Given the description of an element on the screen output the (x, y) to click on. 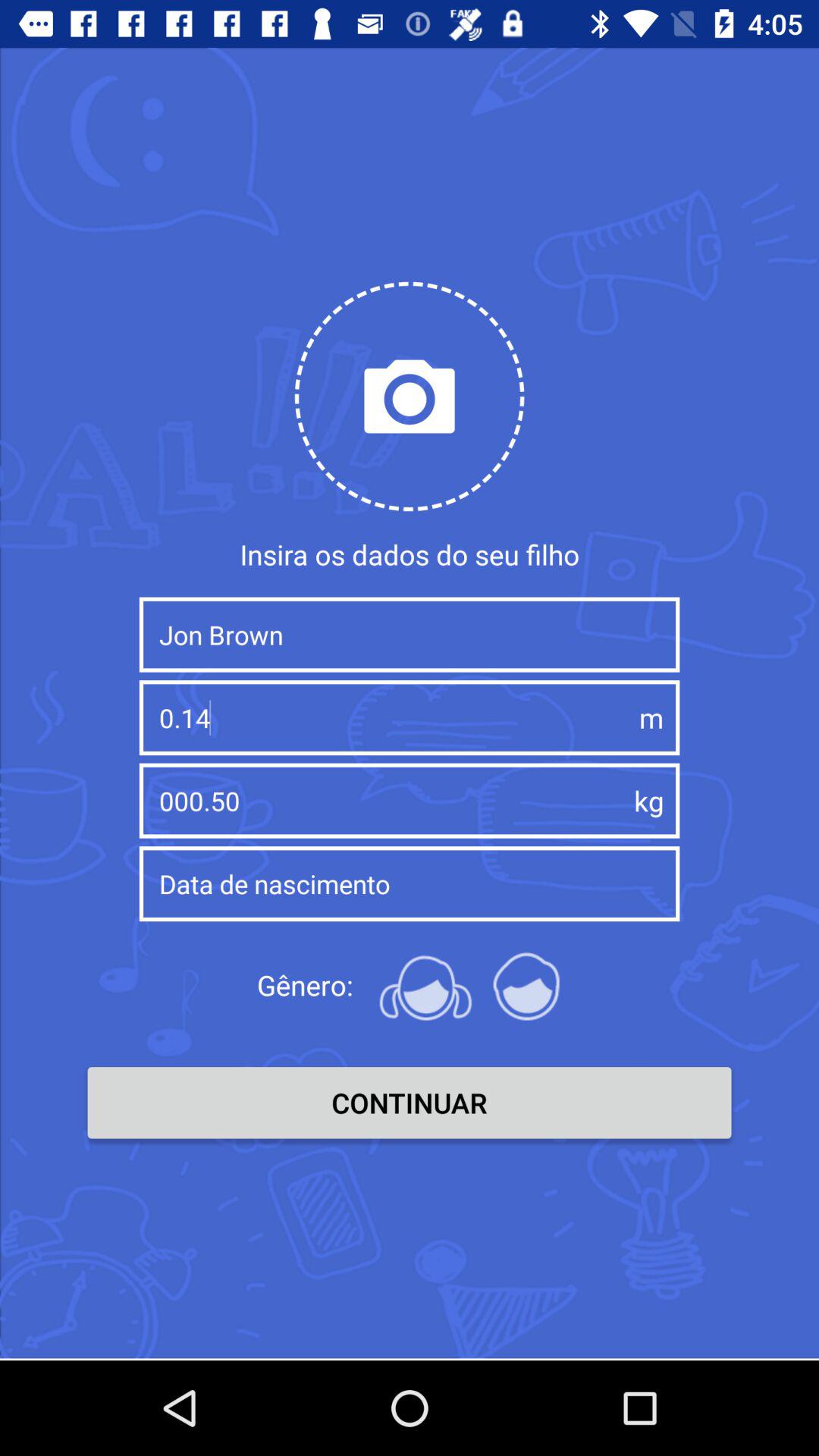
camera (409, 395)
